Given the description of an element on the screen output the (x, y) to click on. 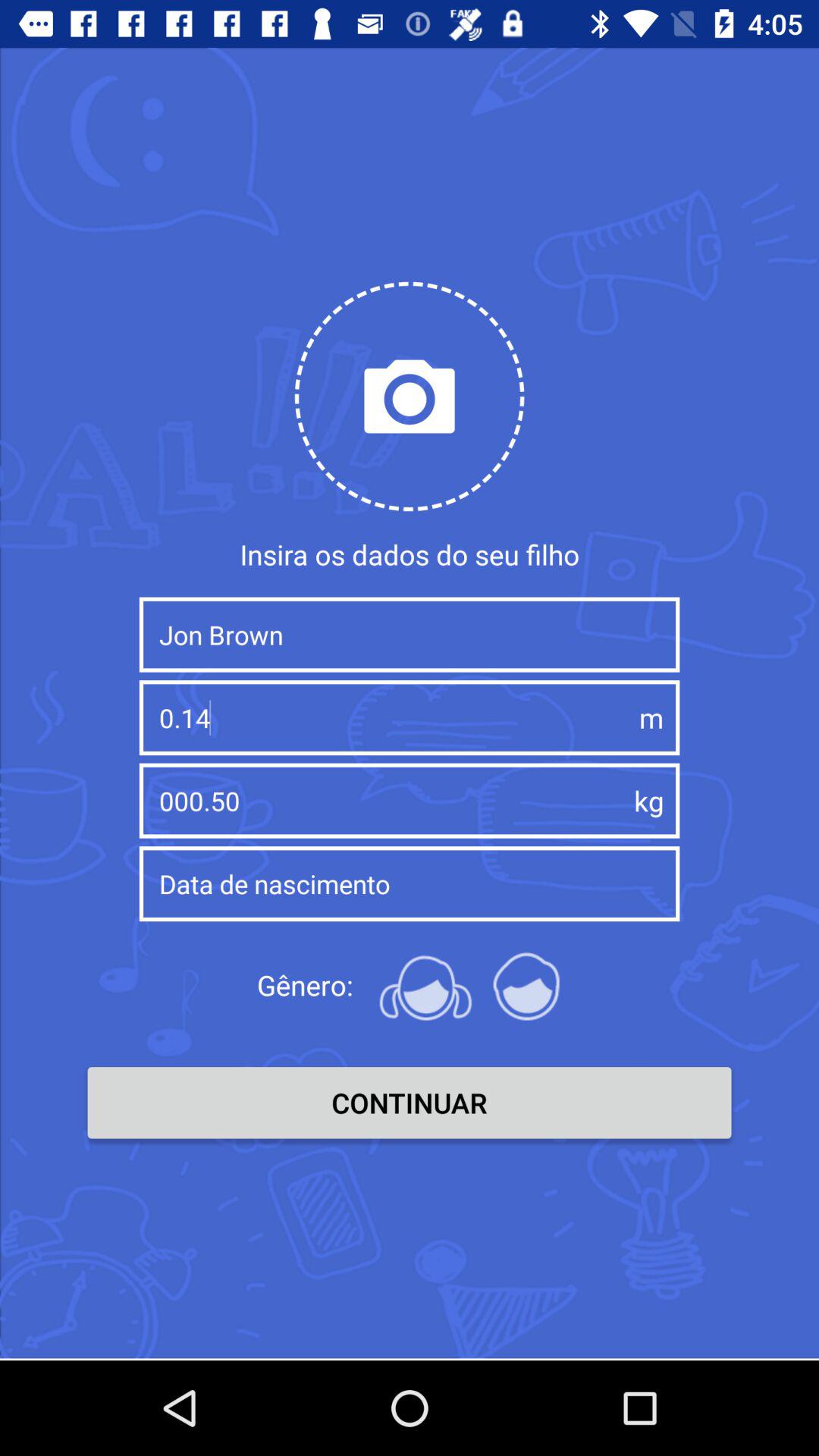
camera (409, 395)
